Given the description of an element on the screen output the (x, y) to click on. 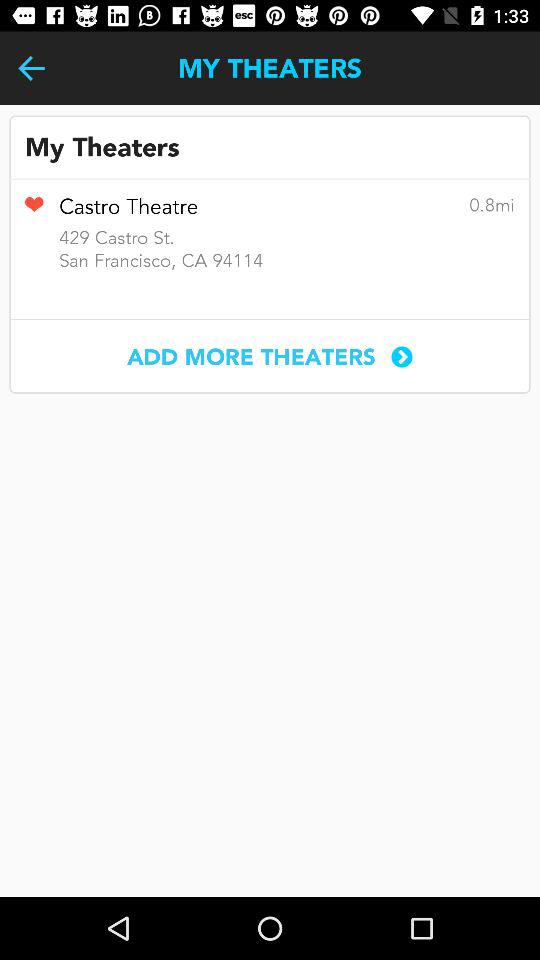
remove from my theaters (34, 211)
